Given the description of an element on the screen output the (x, y) to click on. 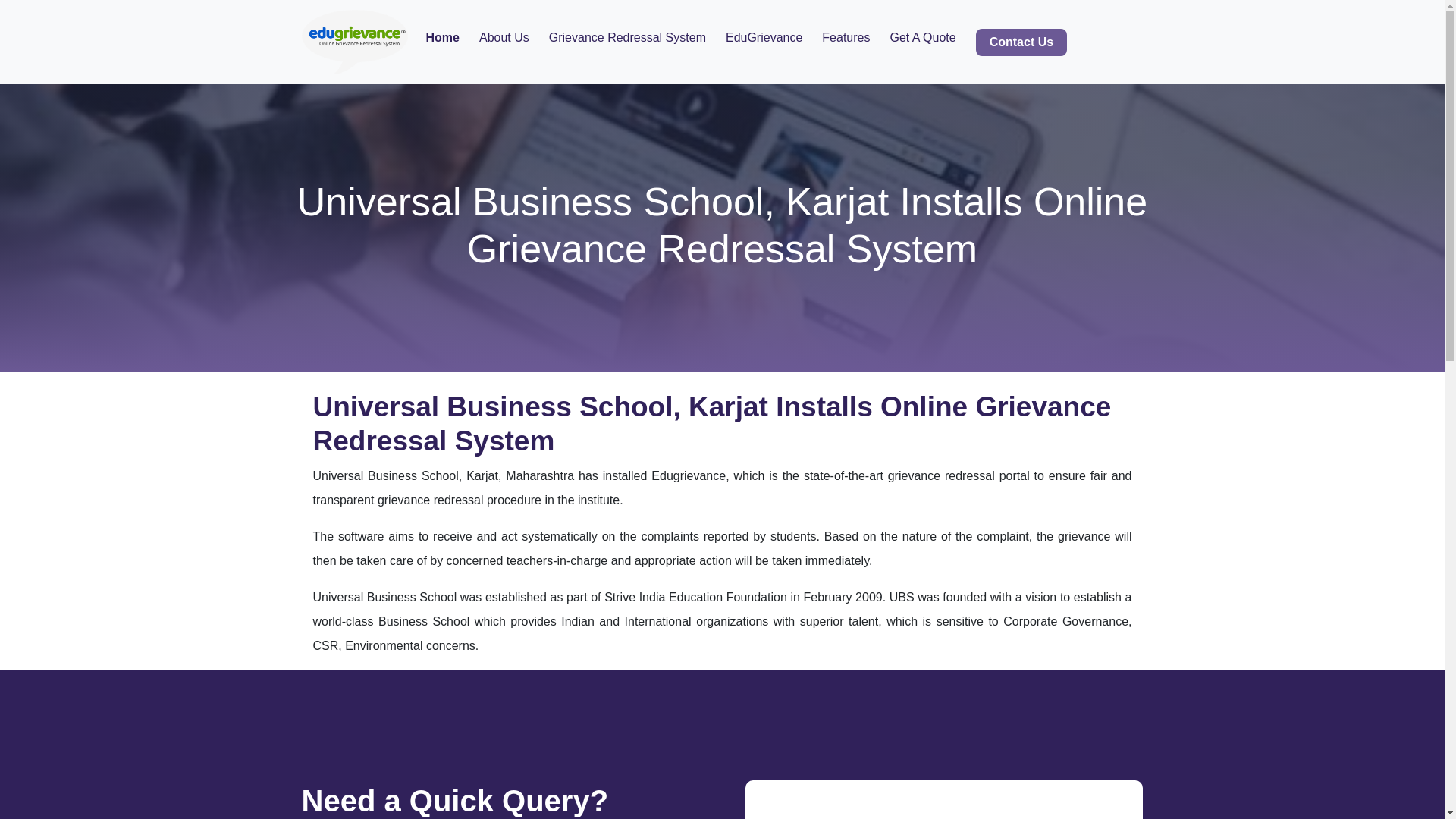
About Us (504, 37)
Contact Us (1021, 42)
Get A Quote (921, 37)
Features (845, 37)
Home (442, 37)
Grievance Redressal System (627, 37)
EduGrievance (763, 37)
Contact Us (1021, 42)
